Given the description of an element on the screen output the (x, y) to click on. 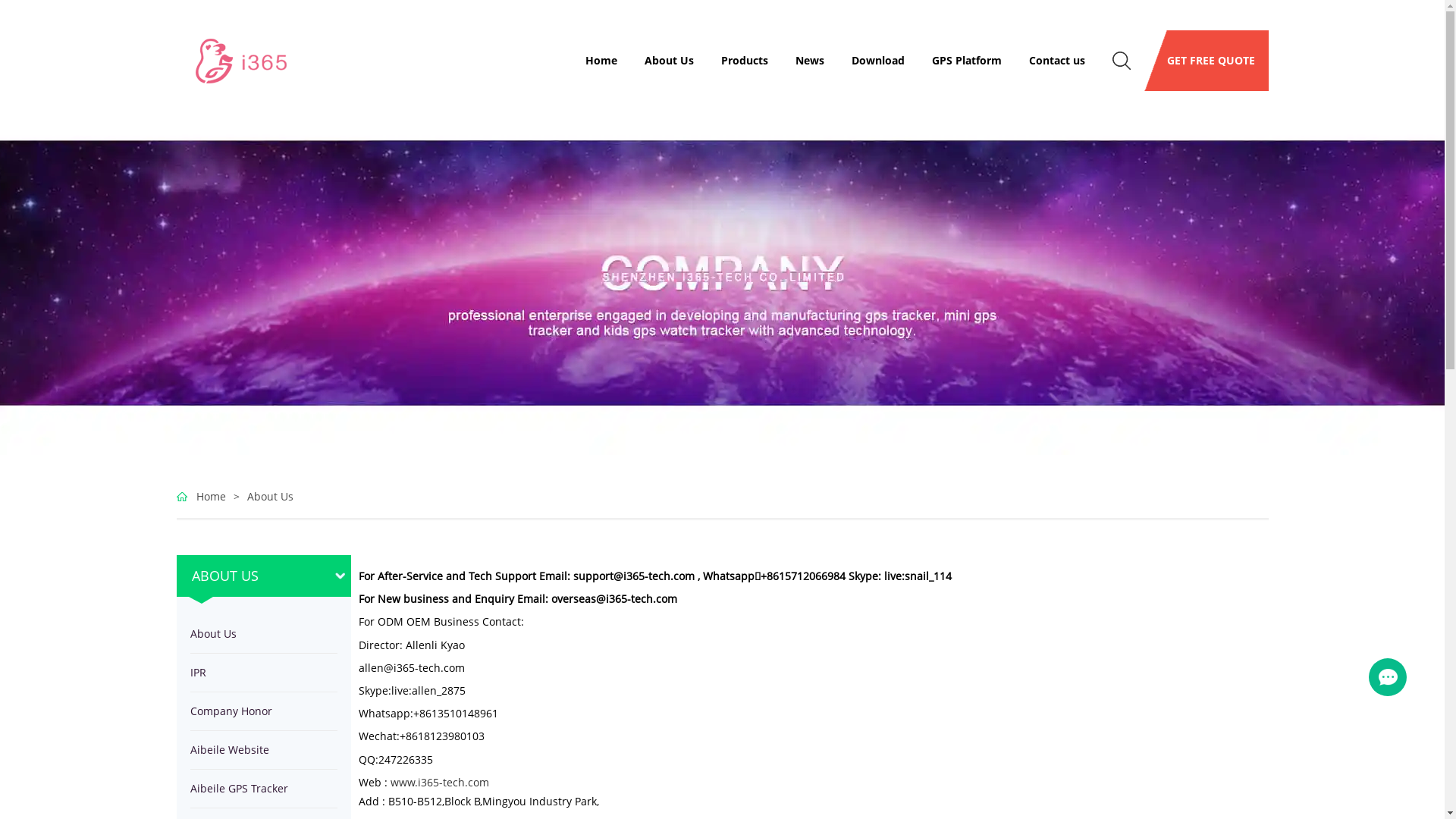
   GET FREE QUOTE Element type: text (1206, 60)
About Us Element type: text (668, 60)
About Us Element type: text (270, 496)
Contact us Element type: text (1056, 60)
Products Element type: text (744, 60)
About Us Element type: text (262, 633)
News Element type: text (809, 60)
Aibeile GPS Tracker Element type: text (262, 788)
Download Element type: text (877, 60)
IPR Element type: text (262, 672)
Company Honor Element type: text (262, 711)
Aibeile Website Element type: text (262, 749)
www.i365-tech.com Element type: text (438, 782)
Home Element type: text (600, 60)
GPS Platform Element type: text (966, 60)
Home Element type: text (200, 496)
